Given the description of an element on the screen output the (x, y) to click on. 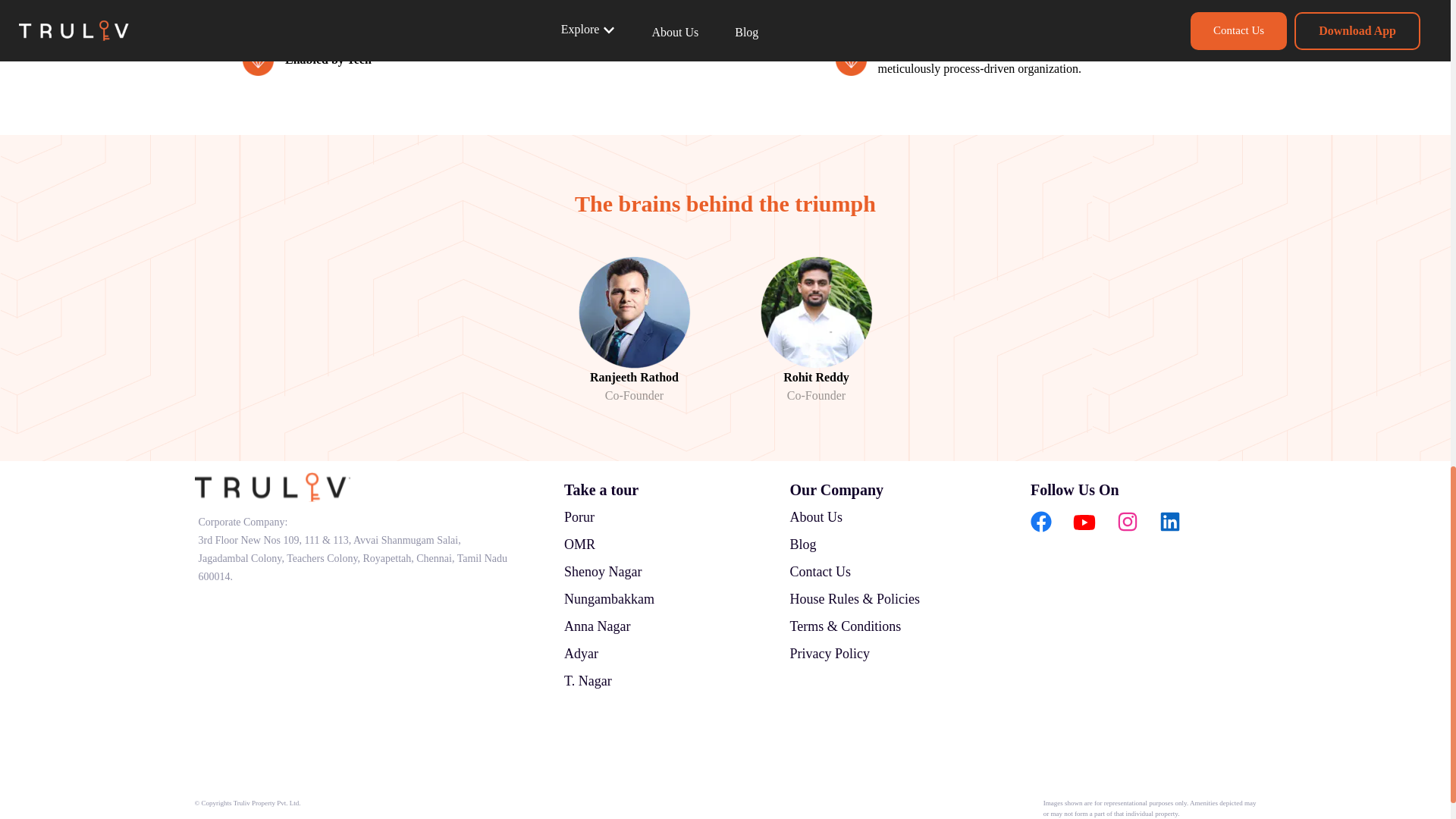
Anna Nagar (597, 625)
Blog (803, 543)
OMR (579, 543)
Nungambakkam (608, 598)
About Us (816, 516)
Porur (579, 516)
Privacy Policy (830, 653)
Contact Us (820, 571)
T. Nagar (587, 680)
Shenoy Nagar (603, 571)
Adyar (581, 653)
